Given the description of an element on the screen output the (x, y) to click on. 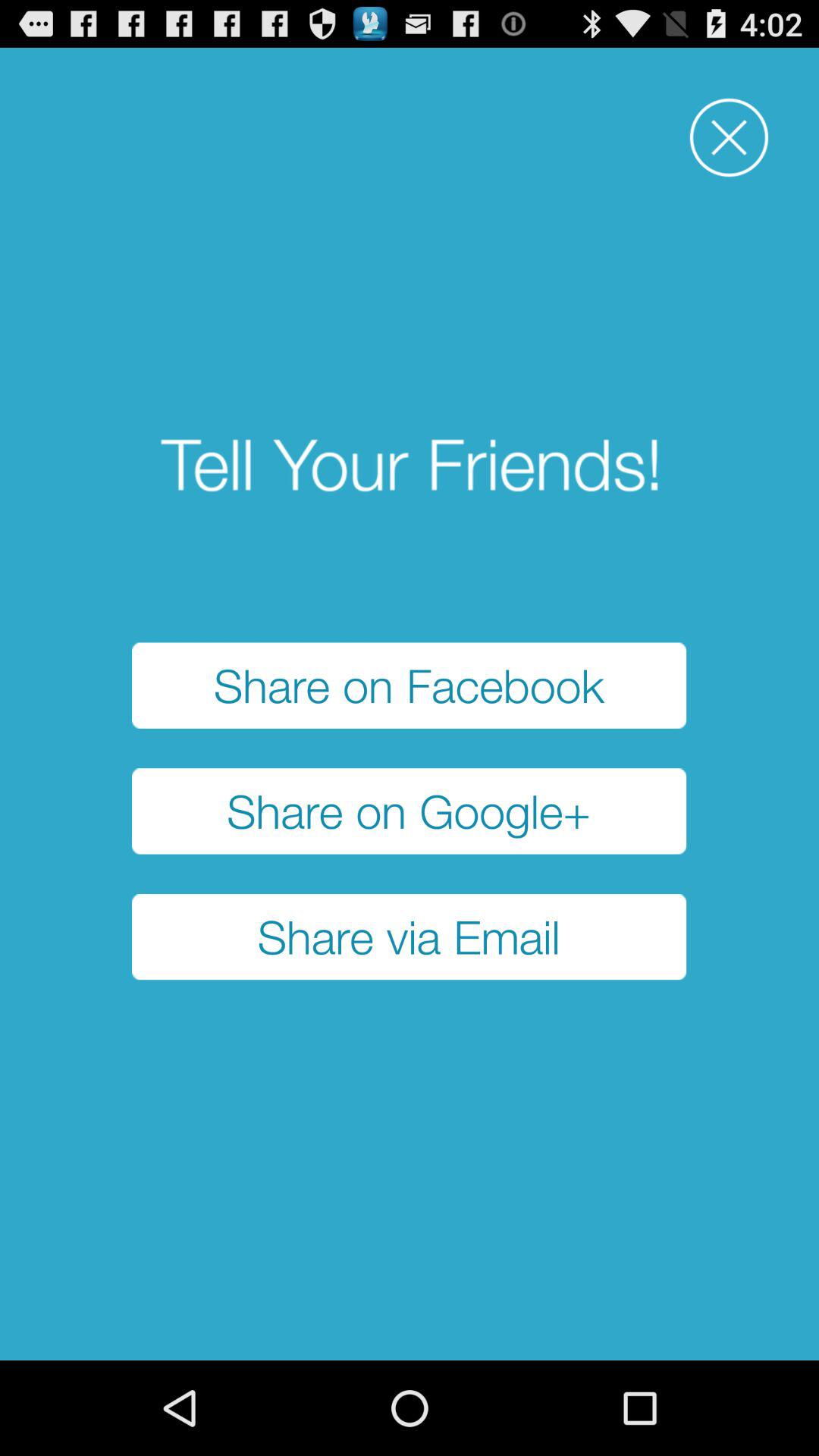
launch the share via email item (408, 936)
